Given the description of an element on the screen output the (x, y) to click on. 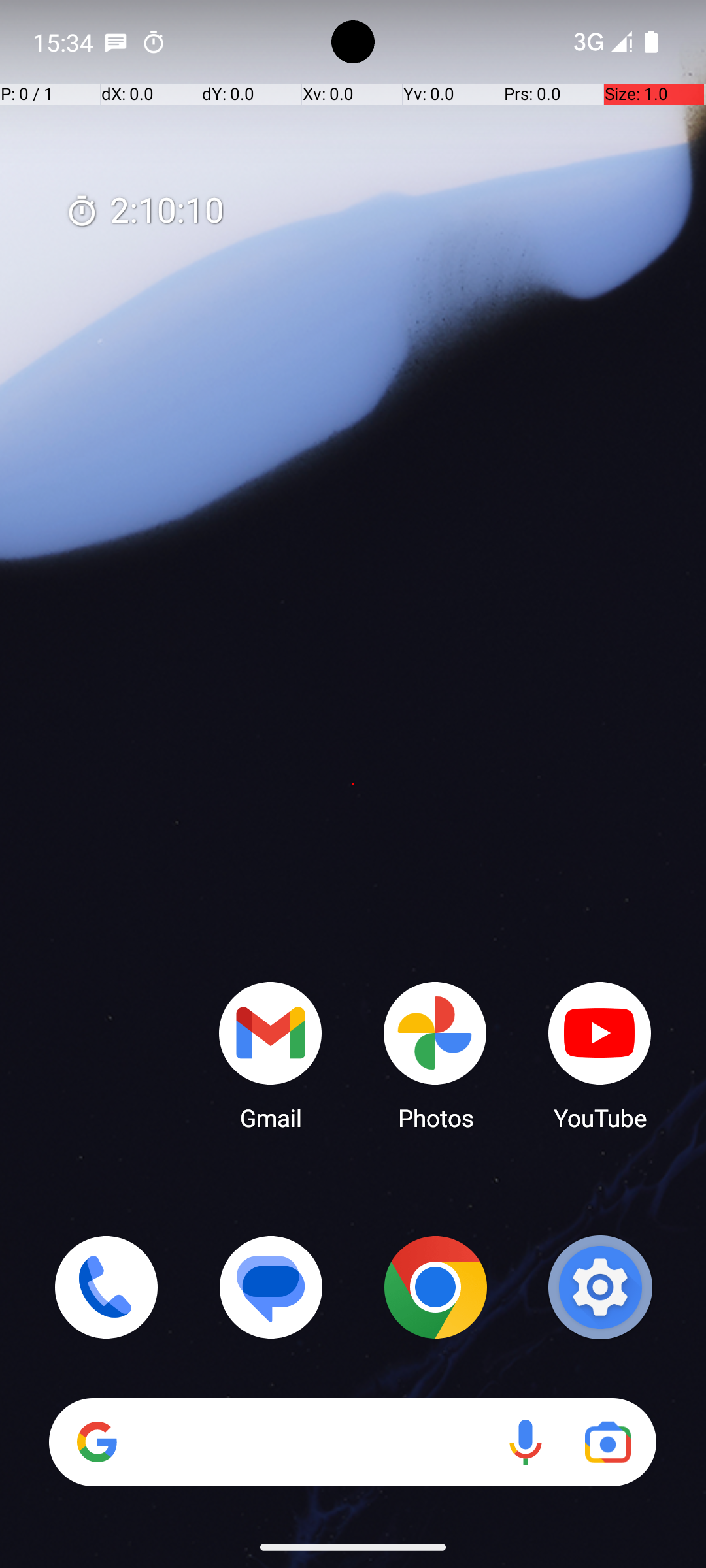
2:10:10 Element type: android.widget.TextView (144, 210)
